Given the description of an element on the screen output the (x, y) to click on. 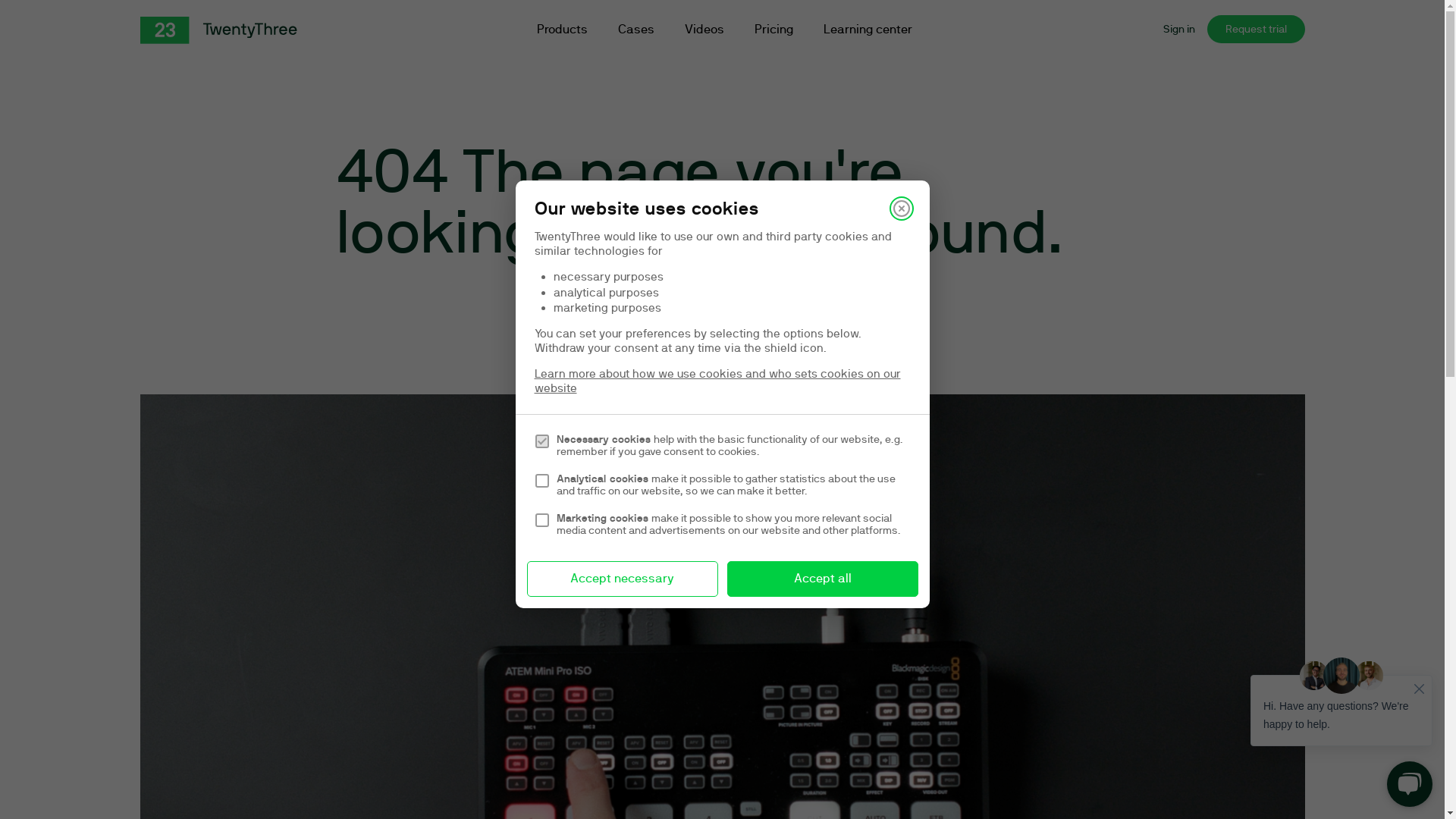
Pricing Element type: text (772, 30)
Accept necessary Element type: text (621, 578)
Videos Element type: text (703, 30)
Learning center Element type: text (867, 30)
Sign in Element type: text (1179, 29)
Cases Element type: text (635, 30)
Accept all Element type: text (821, 578)
Request trial Element type: text (1256, 29)
TwentyThree Element type: text (218, 29)
